Given the description of an element on the screen output the (x, y) to click on. 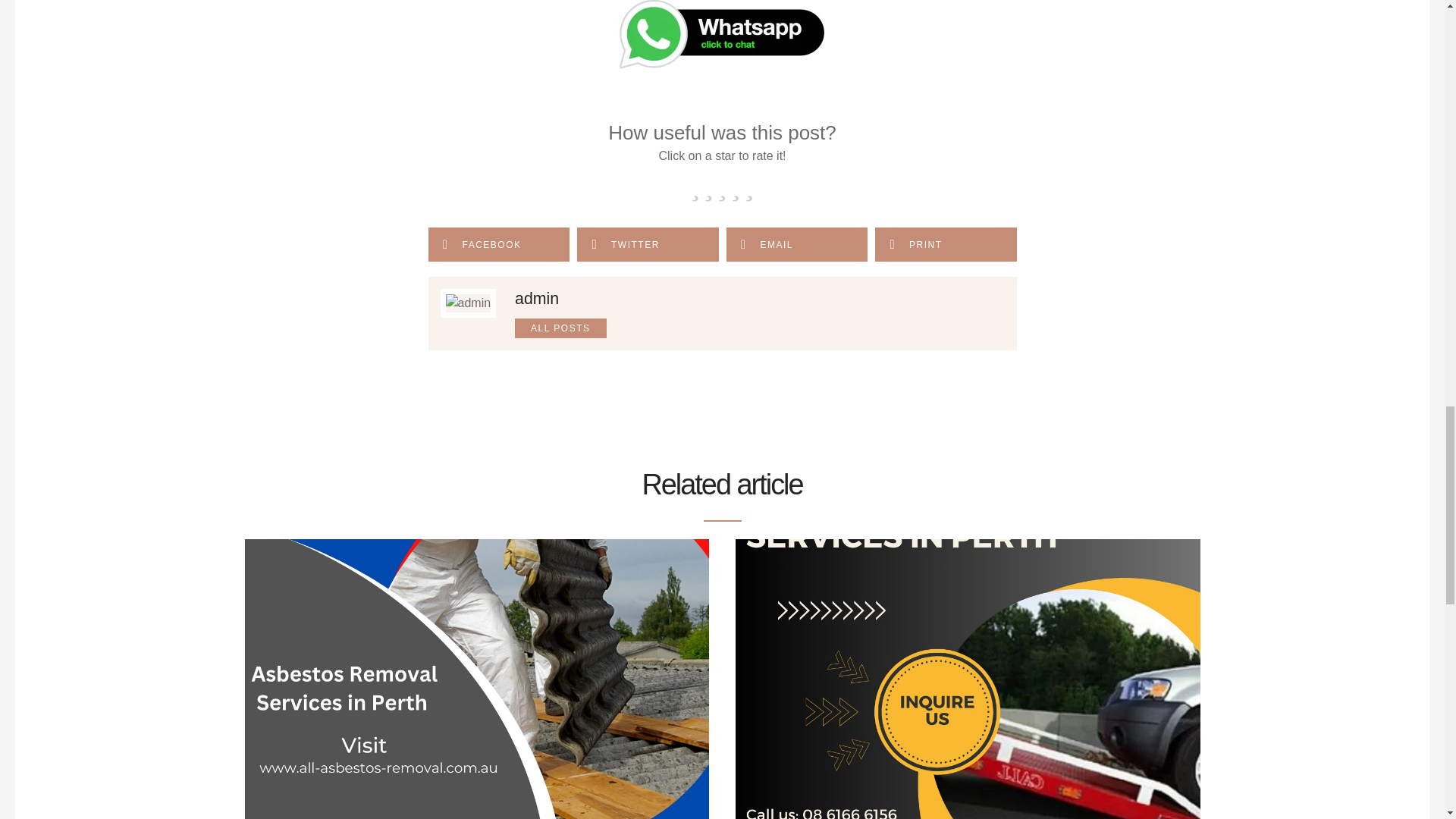
ALL POSTS (560, 328)
